Given the description of an element on the screen output the (x, y) to click on. 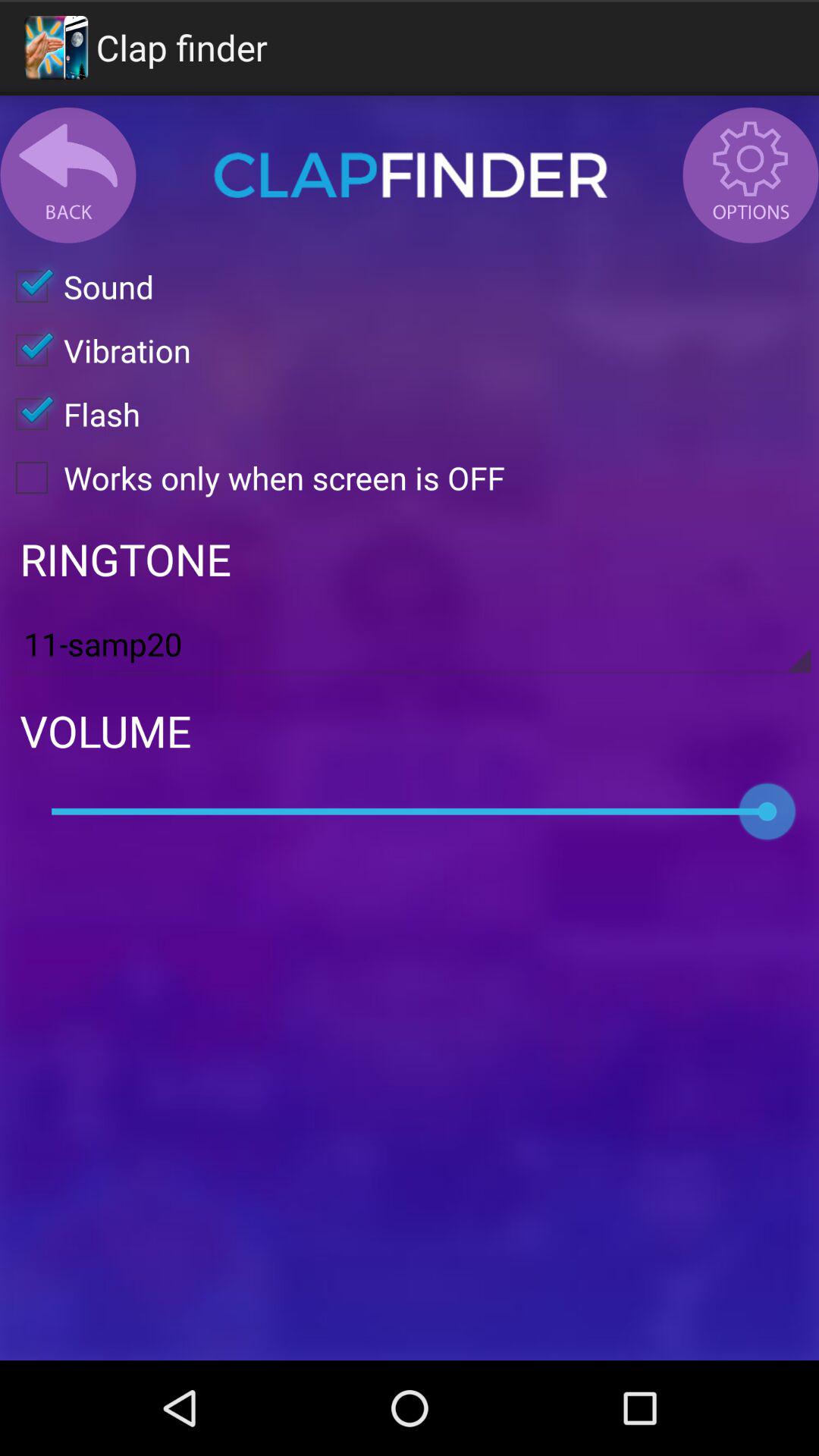
launch item above the sound icon (409, 174)
